Given the description of an element on the screen output the (x, y) to click on. 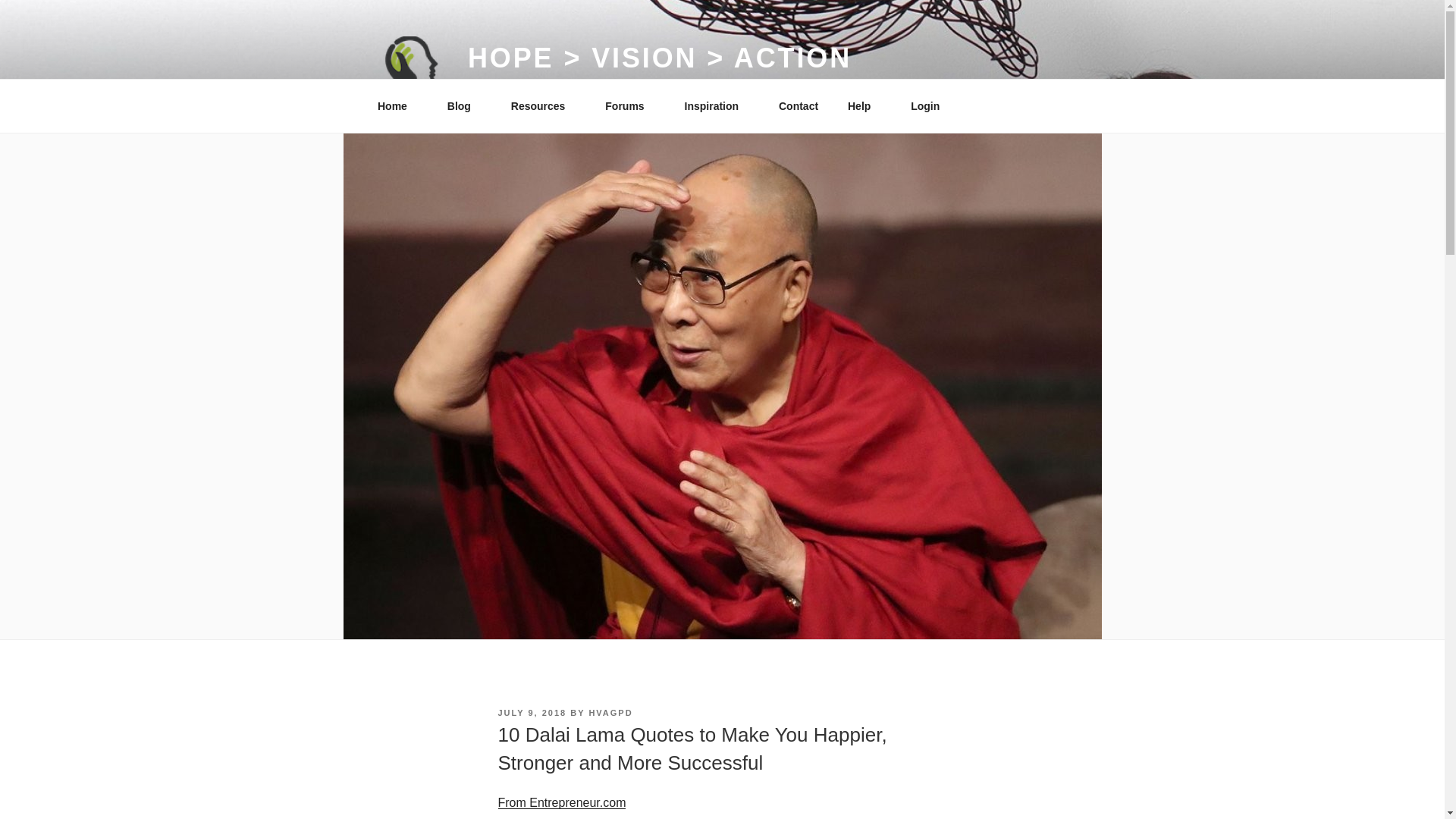
JULY 9, 2018 (531, 712)
Resources (543, 106)
Login (930, 106)
Blog (464, 106)
HVAGPD (609, 712)
Home (397, 106)
Contact (798, 106)
From Entrepreneur.com (561, 802)
Forums (630, 106)
Inspiration (716, 106)
Help (863, 106)
